Given the description of an element on the screen output the (x, y) to click on. 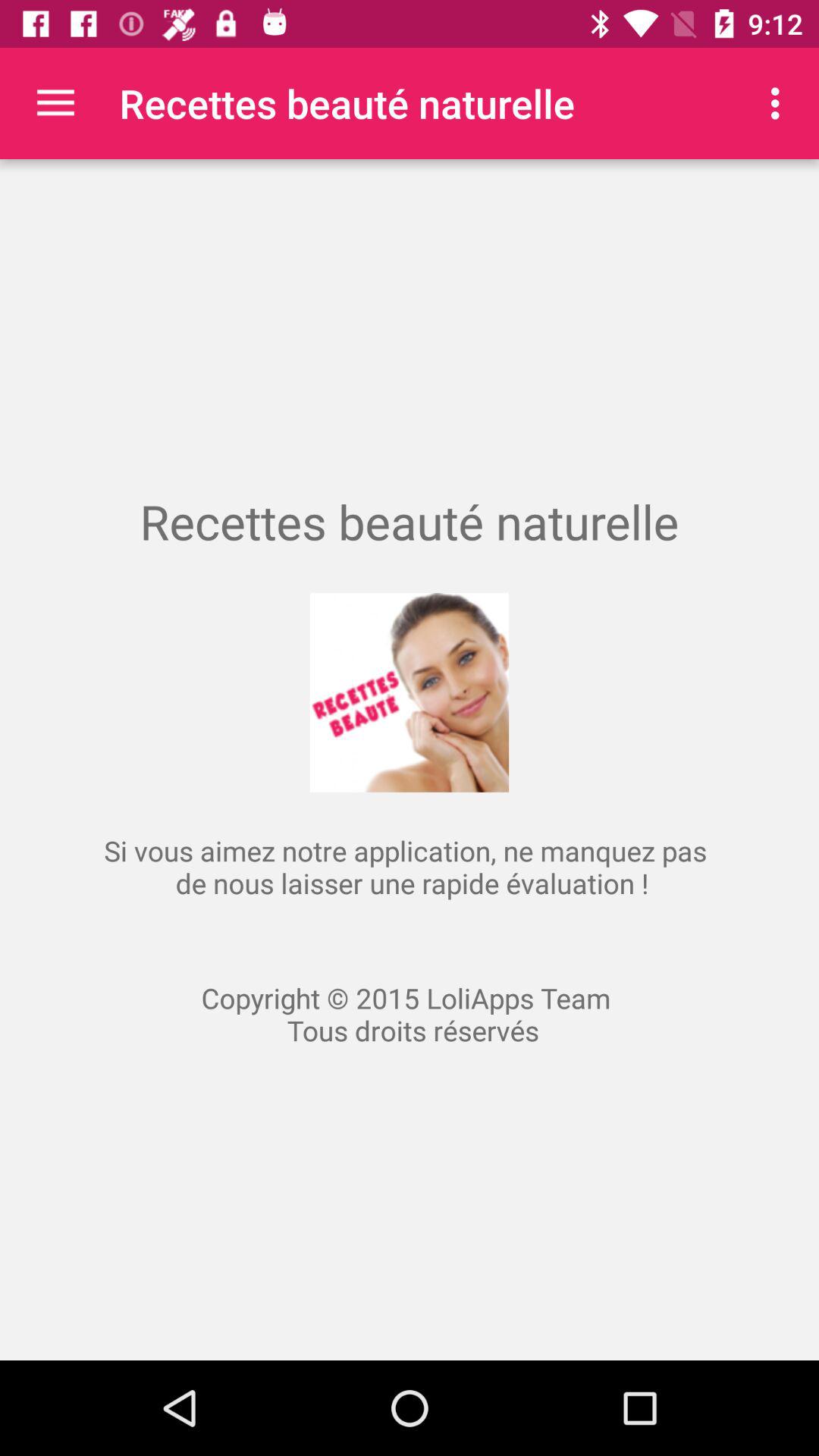
choose the icon above the copyright 2015 loliapps (779, 103)
